Given the description of an element on the screen output the (x, y) to click on. 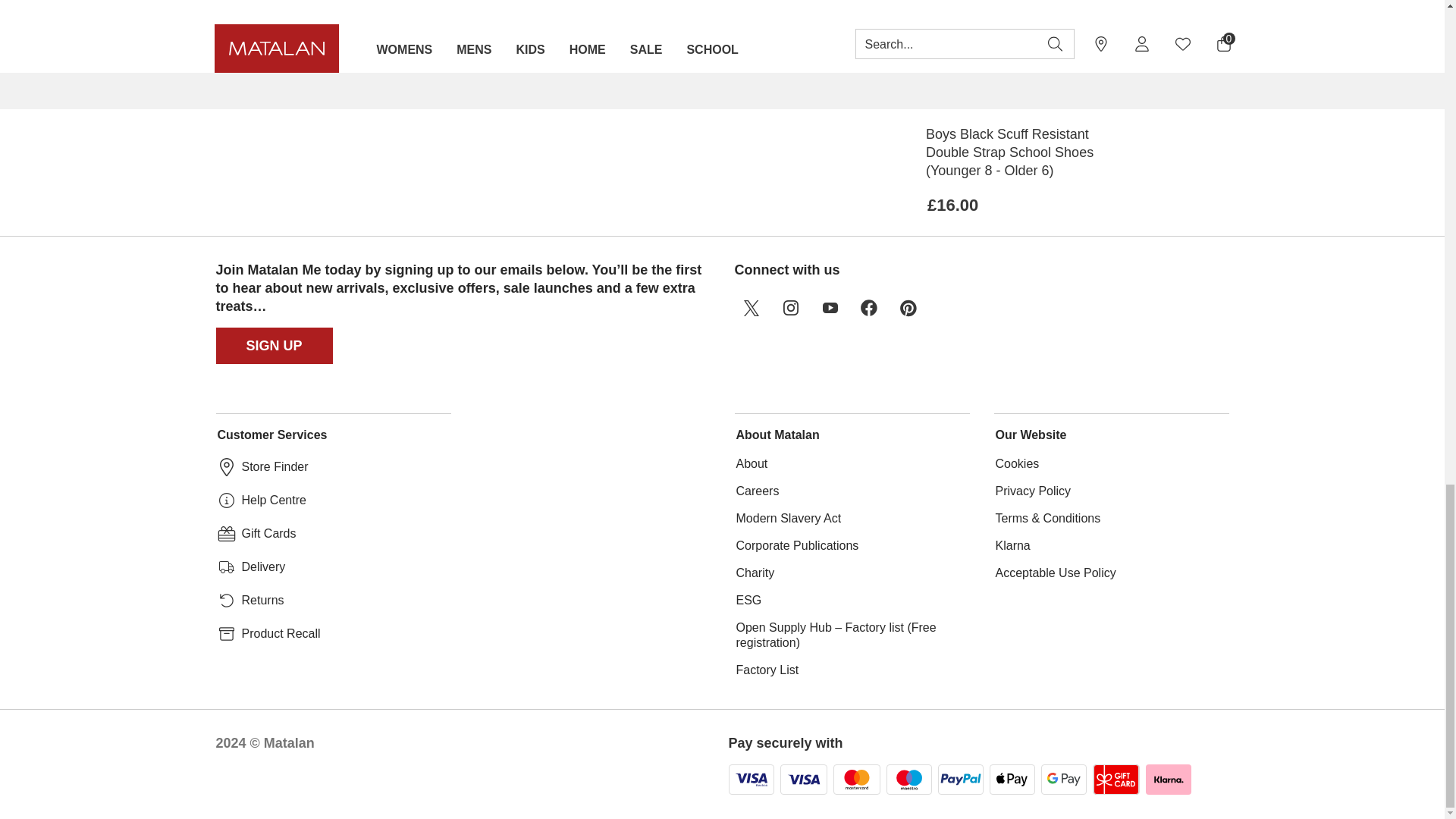
Help Centre (273, 500)
youtube (828, 307)
pinterest (907, 307)
Gift Cards (268, 533)
instagram (789, 307)
facebook (868, 307)
SIGN UP (273, 345)
Store Finder (274, 467)
twitter (750, 307)
